Given the description of an element on the screen output the (x, y) to click on. 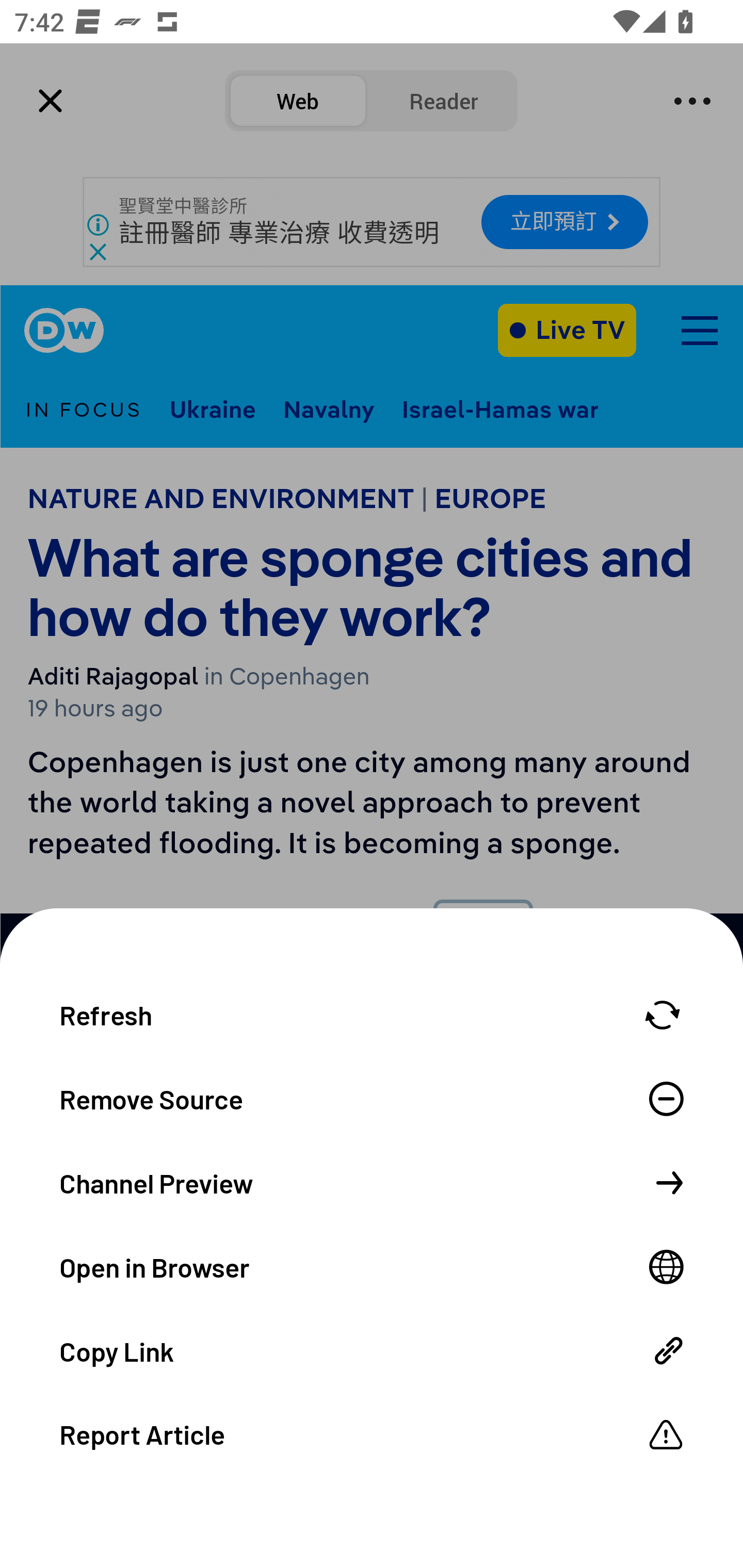
Refresh Menu Option (371, 1013)
Remove Source Menu Option (371, 1097)
Channel Preview Menu Option (371, 1181)
Open in Browser Menu Option (371, 1265)
Copy Link Menu Option (371, 1348)
Report Article Menu Option (371, 1433)
